Given the description of an element on the screen output the (x, y) to click on. 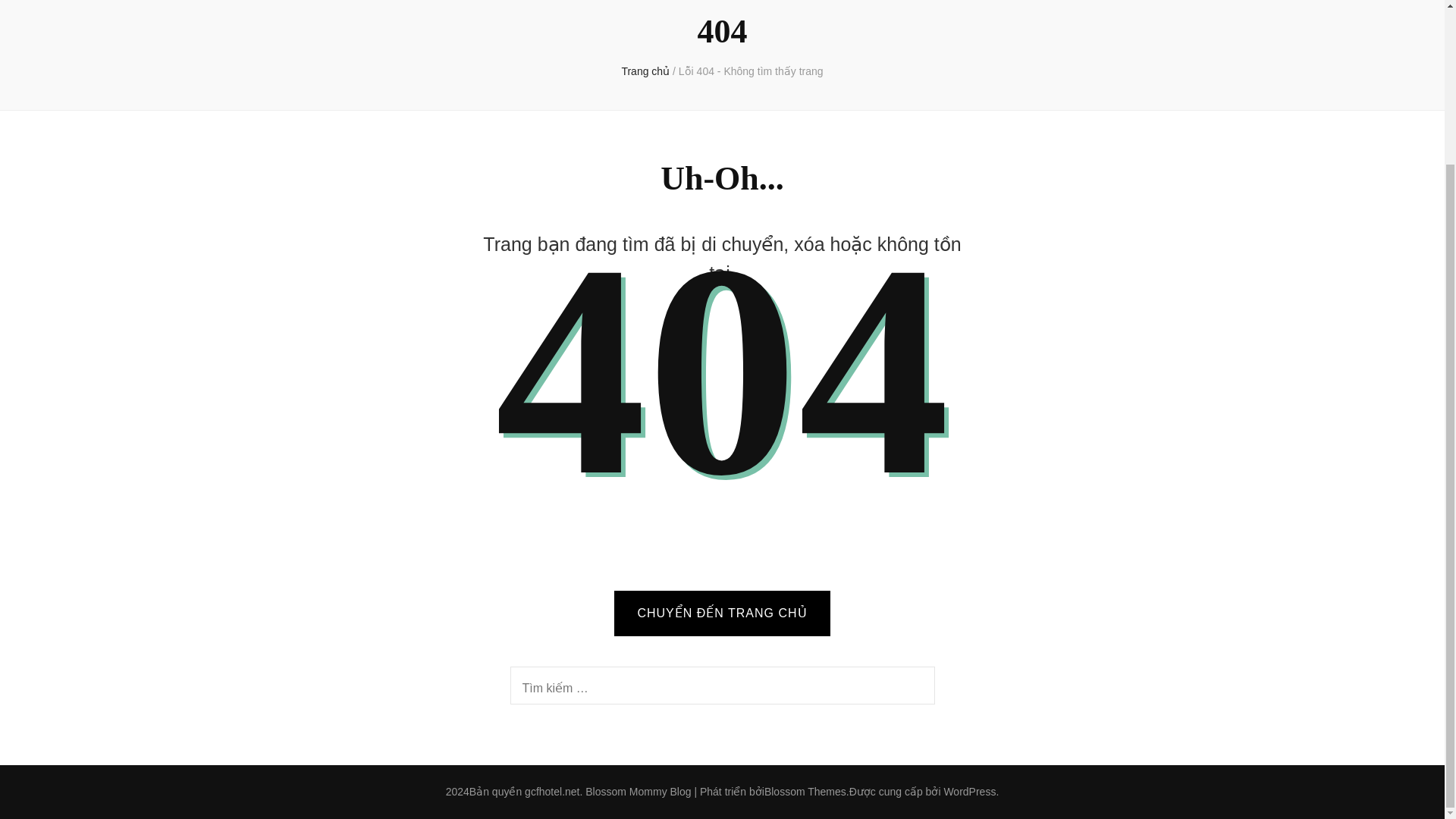
Blossom Themes (803, 791)
gcfhotel.net (552, 791)
WordPress (966, 791)
